Given the description of an element on the screen output the (x, y) to click on. 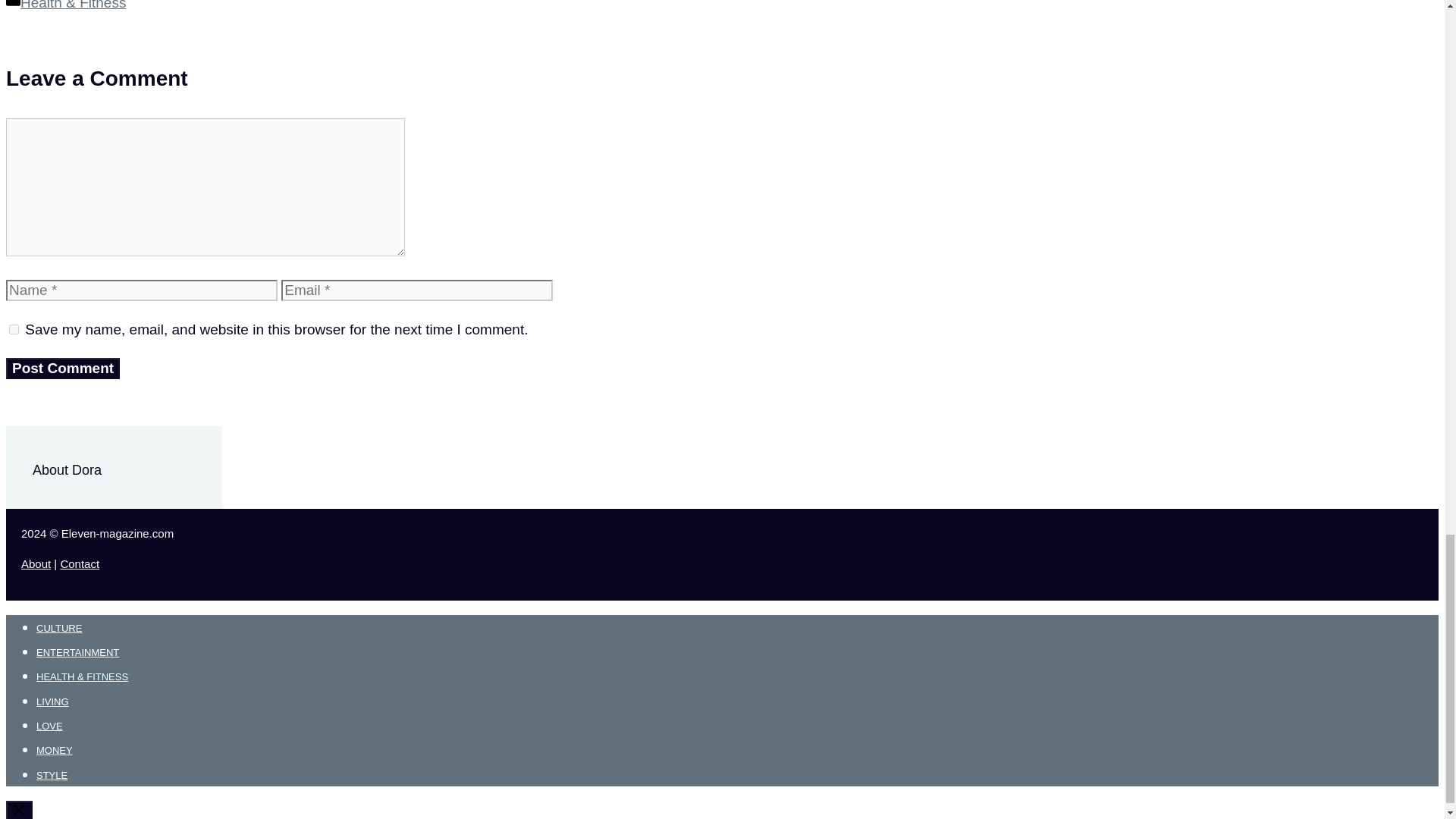
CULTURE (58, 627)
Contact (79, 563)
yes (13, 329)
LOVE (49, 726)
STYLE (51, 775)
Post Comment (62, 368)
MONEY (54, 749)
About (35, 563)
LIVING (52, 701)
Post Comment (62, 368)
ENTERTAINMENT (77, 652)
